Given the description of an element on the screen output the (x, y) to click on. 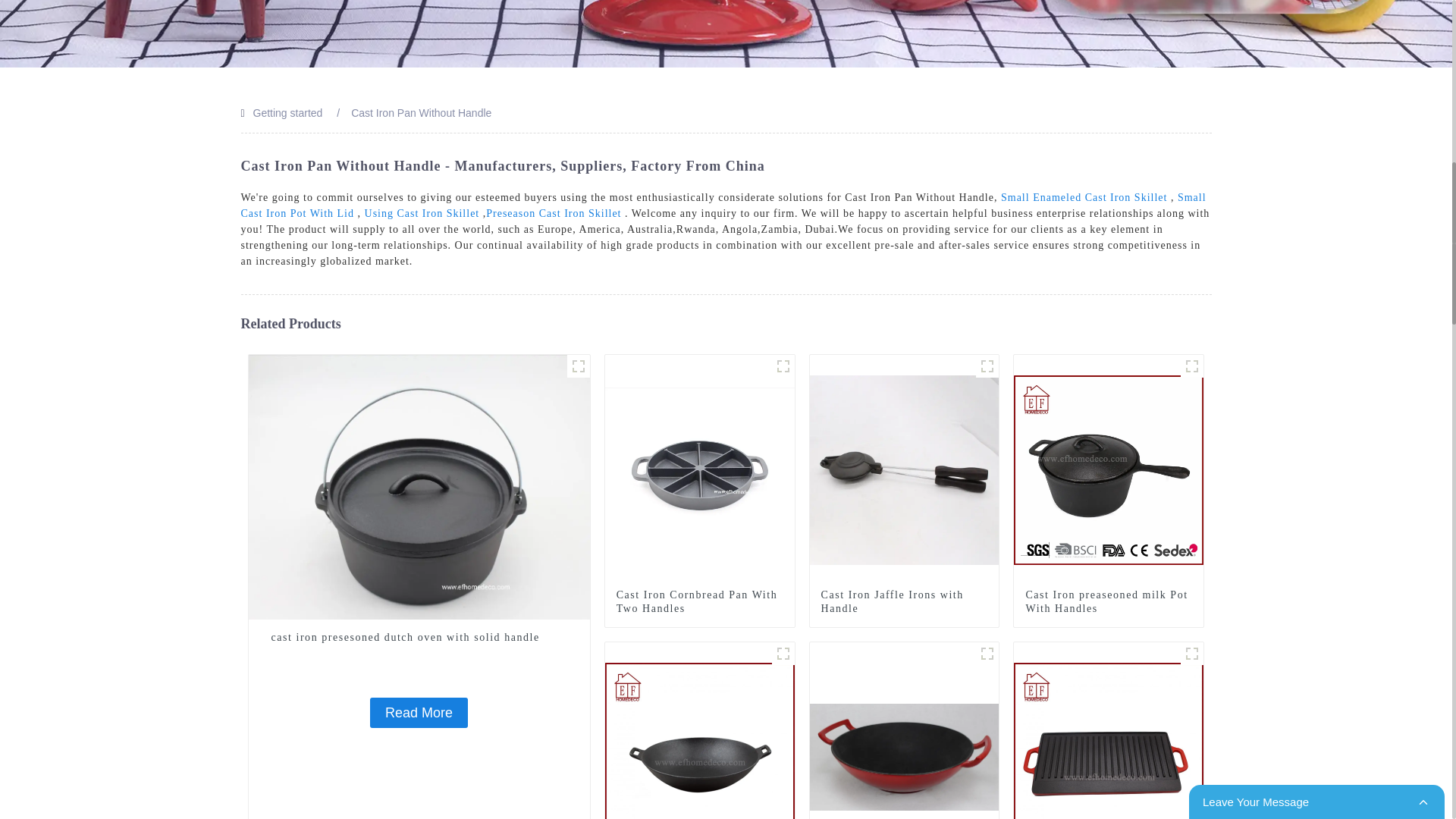
Cast Iron Jaffle Irons (986, 365)
Cast Iron Jaffle Irons with Handle  (904, 601)
Cast iron skillet (782, 365)
Small Cast Iron Pot With Lid (724, 205)
Cast Iron Jaffle Irons with Handle  (903, 468)
2c4b402639e25116dacf3ddd10 (782, 653)
Using Cast Iron Skillet (422, 213)
Small Cast Iron Pot With Lid (724, 205)
Getting started (288, 112)
Cast iron wok with solid handle (699, 756)
cast iron presesoned dutch oven with solid handle  (418, 485)
Small Enameled Cast Iron Skillet (1084, 197)
Read More (418, 712)
Cast Iron Cornbread Pan With Two Handles  (699, 601)
Cast Iron preaseoned milk Pot With Handles  (1108, 601)
